Given the description of an element on the screen output the (x, y) to click on. 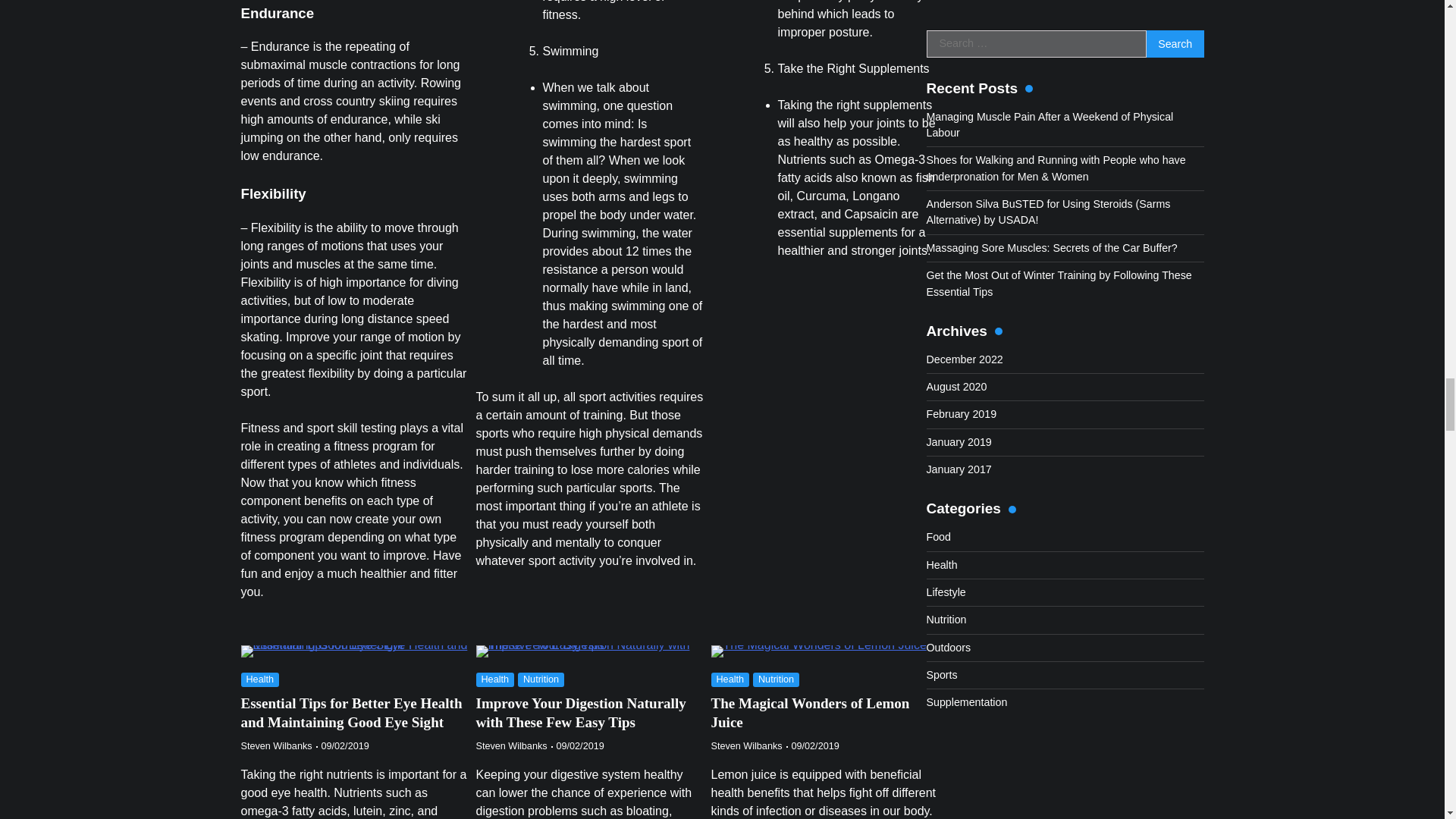
Health (260, 679)
Steven Wilbanks (277, 746)
